Given the description of an element on the screen output the (x, y) to click on. 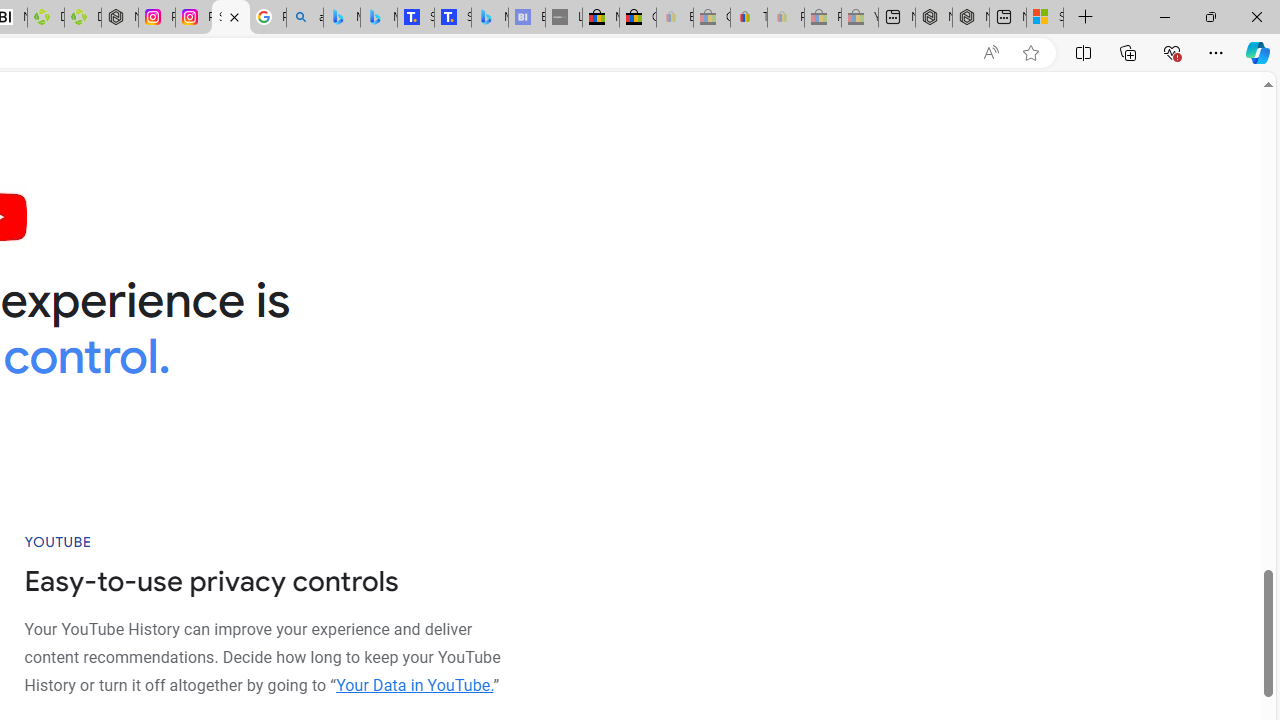
Microsoft Bing Travel - Shangri-La Hotel Bangkok (490, 17)
Microsoft Bing Travel - Flights from Hong Kong to Bangkok (341, 17)
